Given the description of an element on the screen output the (x, y) to click on. 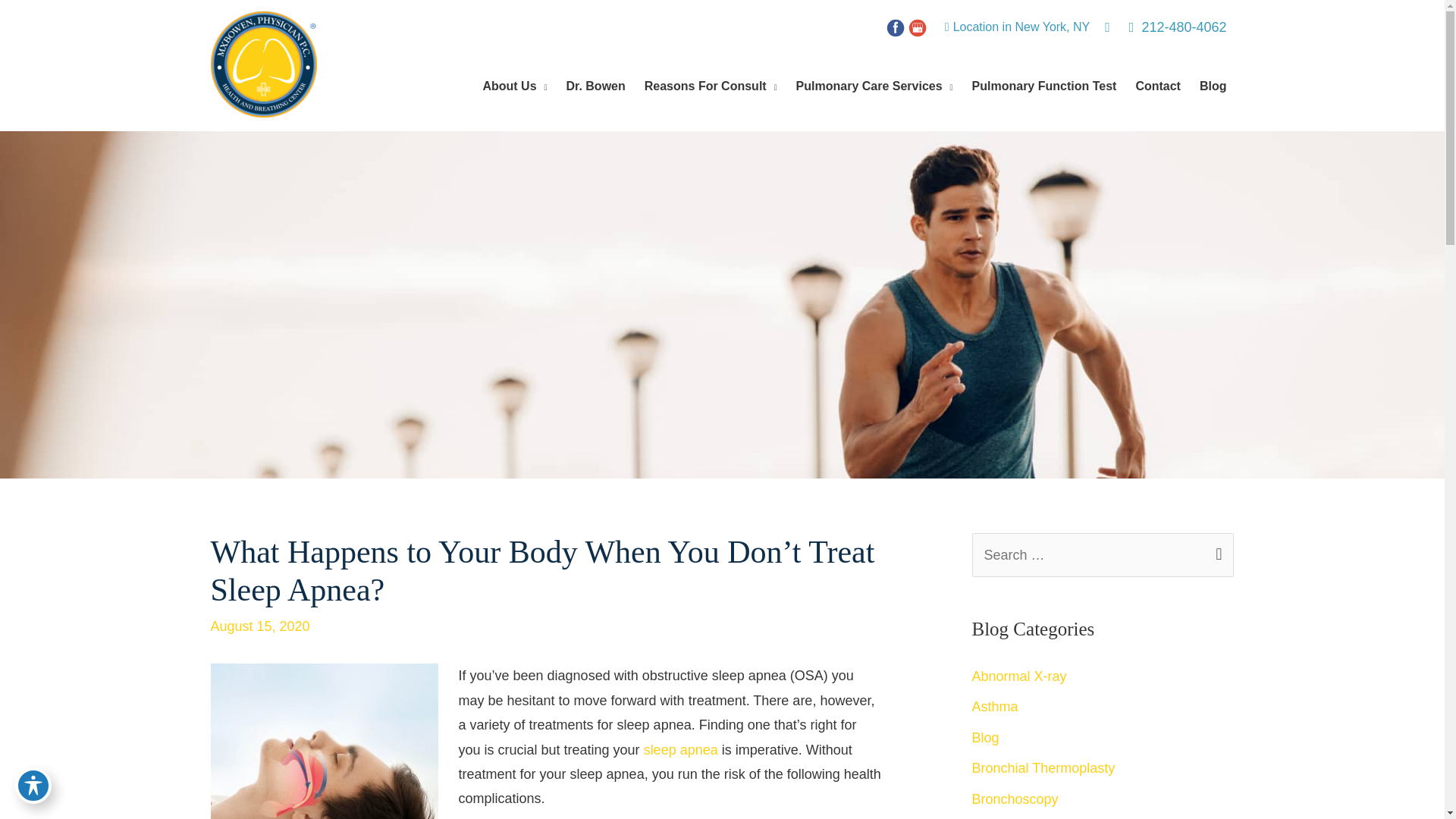
Contact (1156, 86)
Pulmonary Function Test (1042, 86)
Location in New York, NY (1021, 26)
Blog (1211, 86)
Dr. Bowen (593, 86)
Reasons For Consult (708, 86)
212-480-4062 (1172, 27)
About Us (512, 86)
Pulmonary Care Services (872, 86)
